Given the description of an element on the screen output the (x, y) to click on. 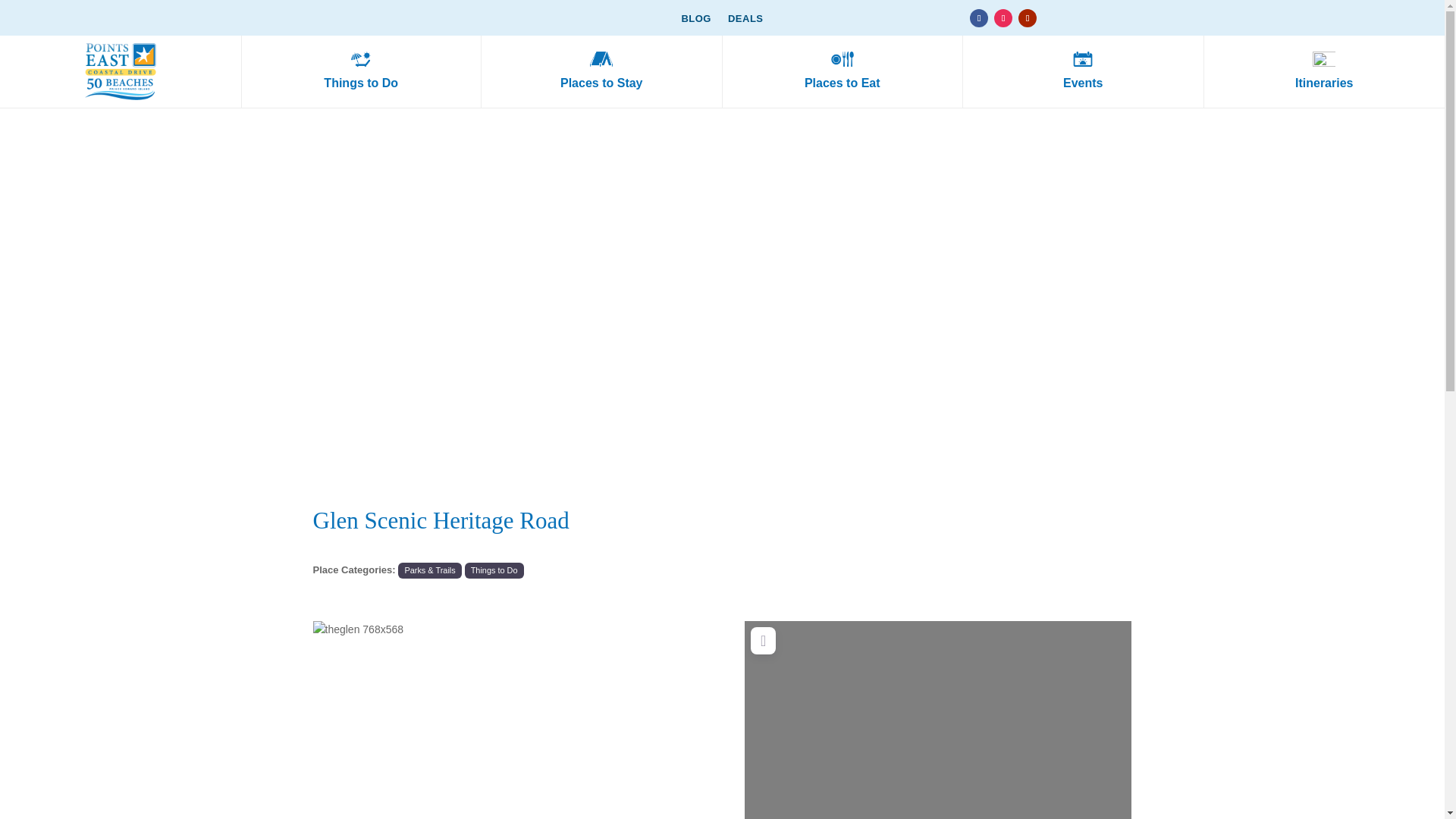
Follow on Facebook (978, 18)
Things to Do (493, 570)
Follow on Instagram (1002, 18)
BLOG (696, 21)
Follow on Youtube (1026, 18)
DEALS (745, 21)
